Given the description of an element on the screen output the (x, y) to click on. 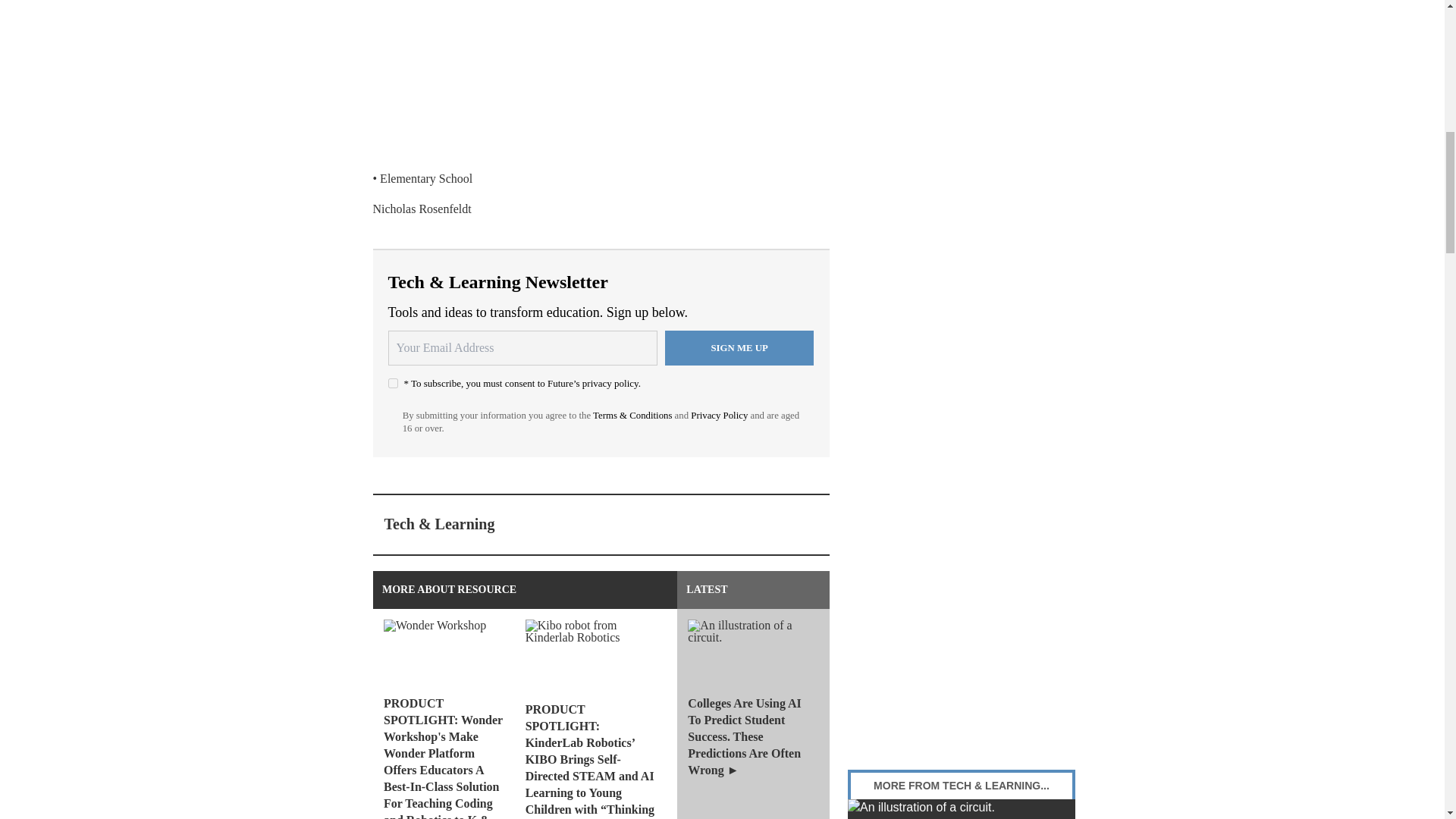
Sign me up (739, 347)
Privacy Policy (719, 415)
on (392, 383)
Sign me up (739, 347)
